Given the description of an element on the screen output the (x, y) to click on. 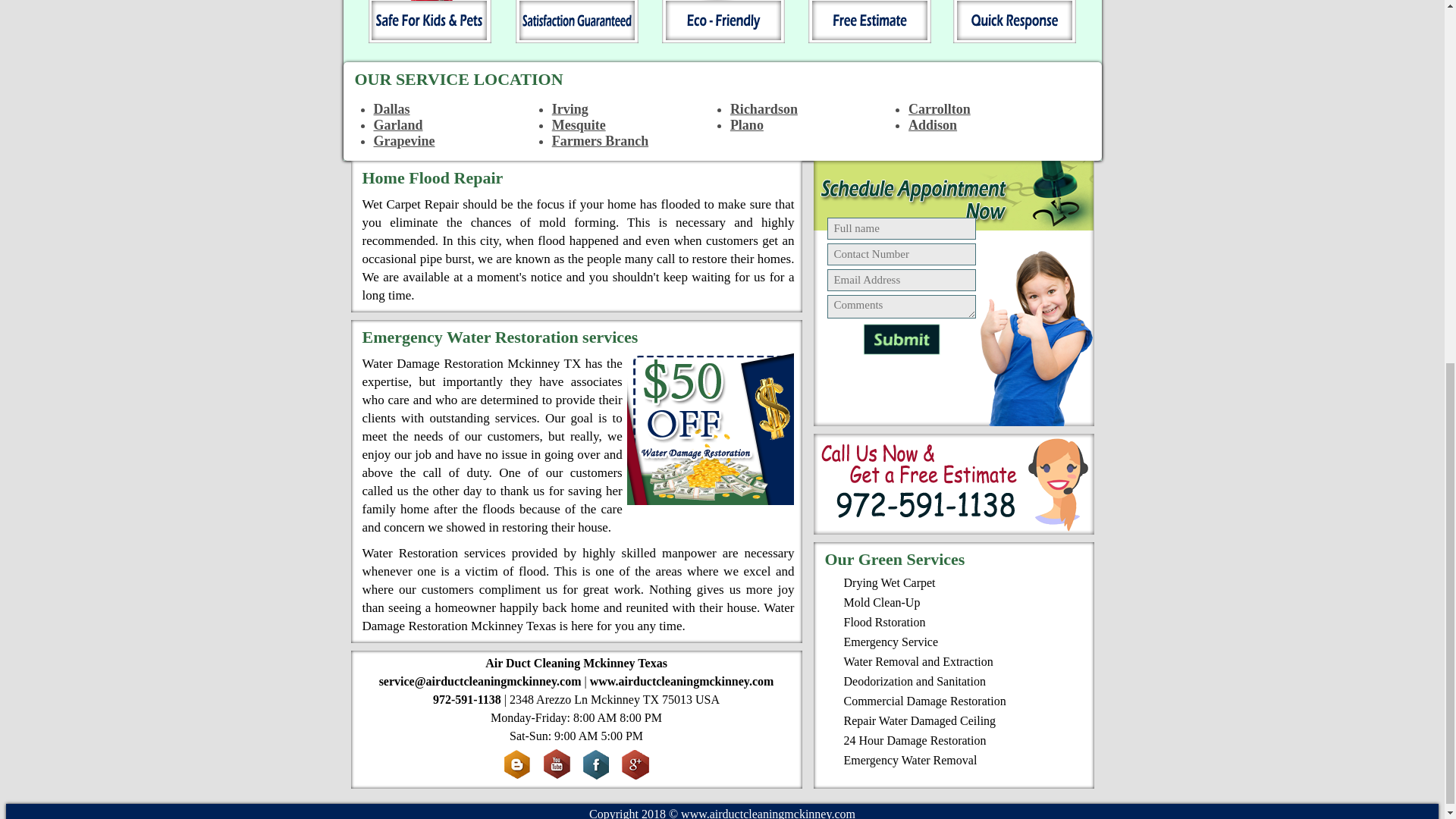
Farmers Branch (599, 140)
Our Google Plus Circle (635, 764)
972-591-1138 (466, 698)
Carrollton (939, 109)
Air Duct Cleaning Mckinney Texas (575, 662)
www.airductcleaningmckinney.com (681, 680)
Garland (397, 124)
Our Blog (517, 764)
click here and get offer (710, 428)
Dallas (390, 109)
click to call (952, 484)
Our Facebook Page (595, 764)
Addison (932, 124)
Affordable Services (721, 23)
Watch Our New Videos (556, 764)
